Given the description of an element on the screen output the (x, y) to click on. 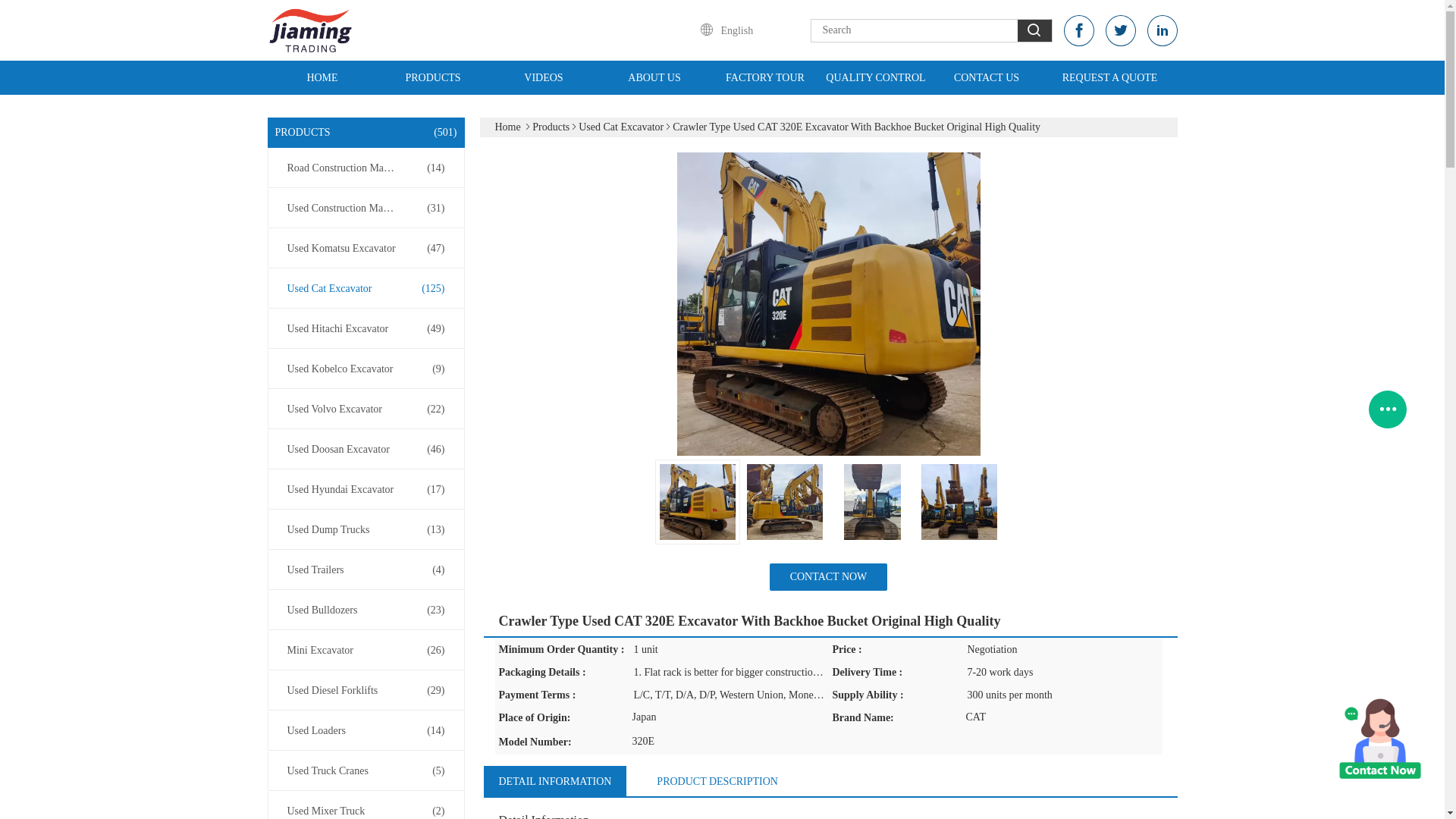
PRODUCTS (432, 77)
HOME (321, 77)
VIDEOS (542, 77)
Shanghai Jiaming Trading Co., Ltd. Facebook (1077, 30)
Shanghai Jiaming Trading Co., Ltd. Linkedin (1161, 30)
Shanghai Jiaming Trading Co., Ltd. Twitter (1120, 30)
